Given the description of an element on the screen output the (x, y) to click on. 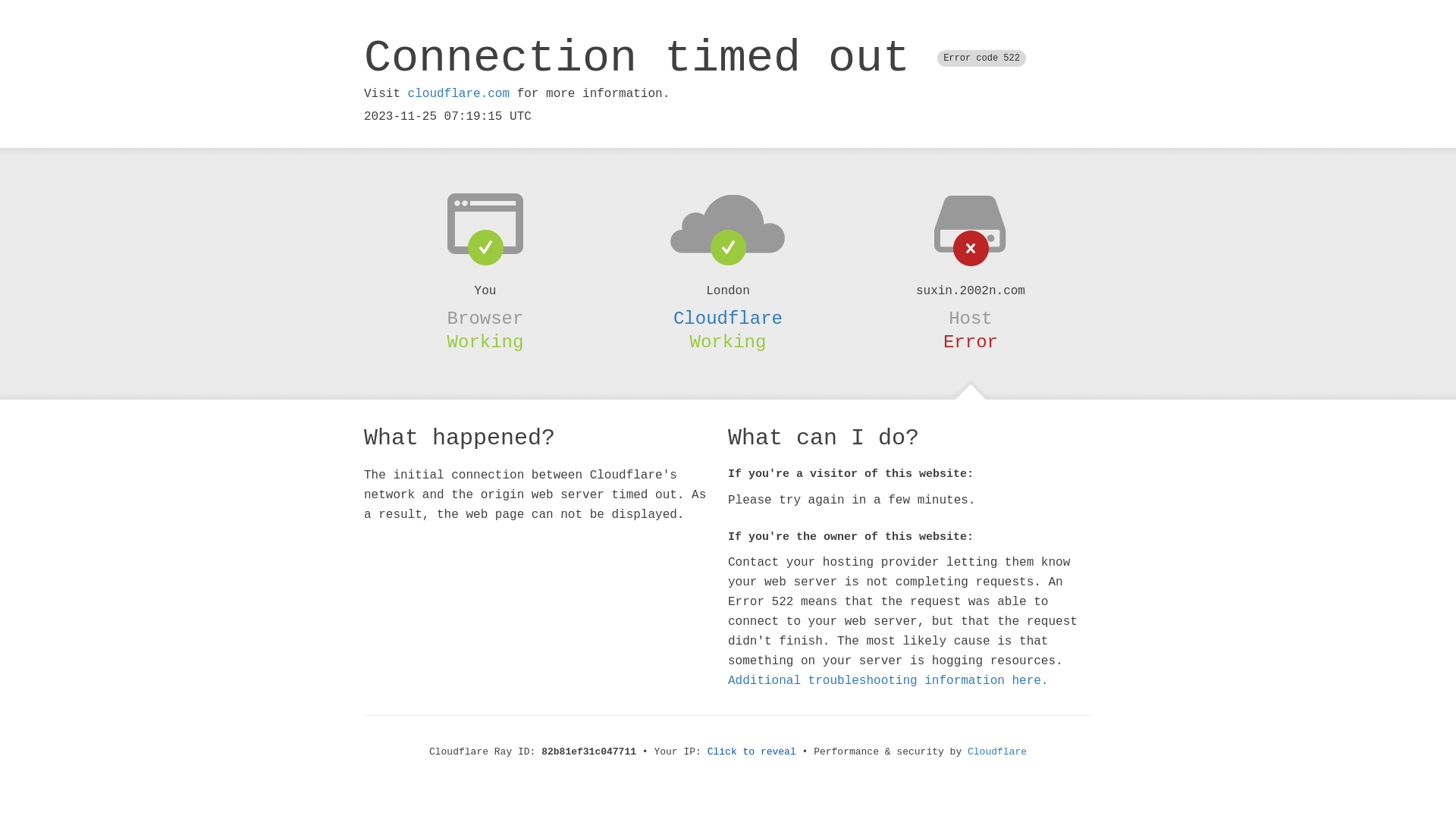
Click to reveal Element type: text (751, 751)
Additional troubleshooting information here. Element type: text (888, 680)
Cloudflare Element type: text (996, 751)
Cloudflare Element type: text (727, 318)
cloudflare.com Element type: text (458, 93)
